Given the description of an element on the screen output the (x, y) to click on. 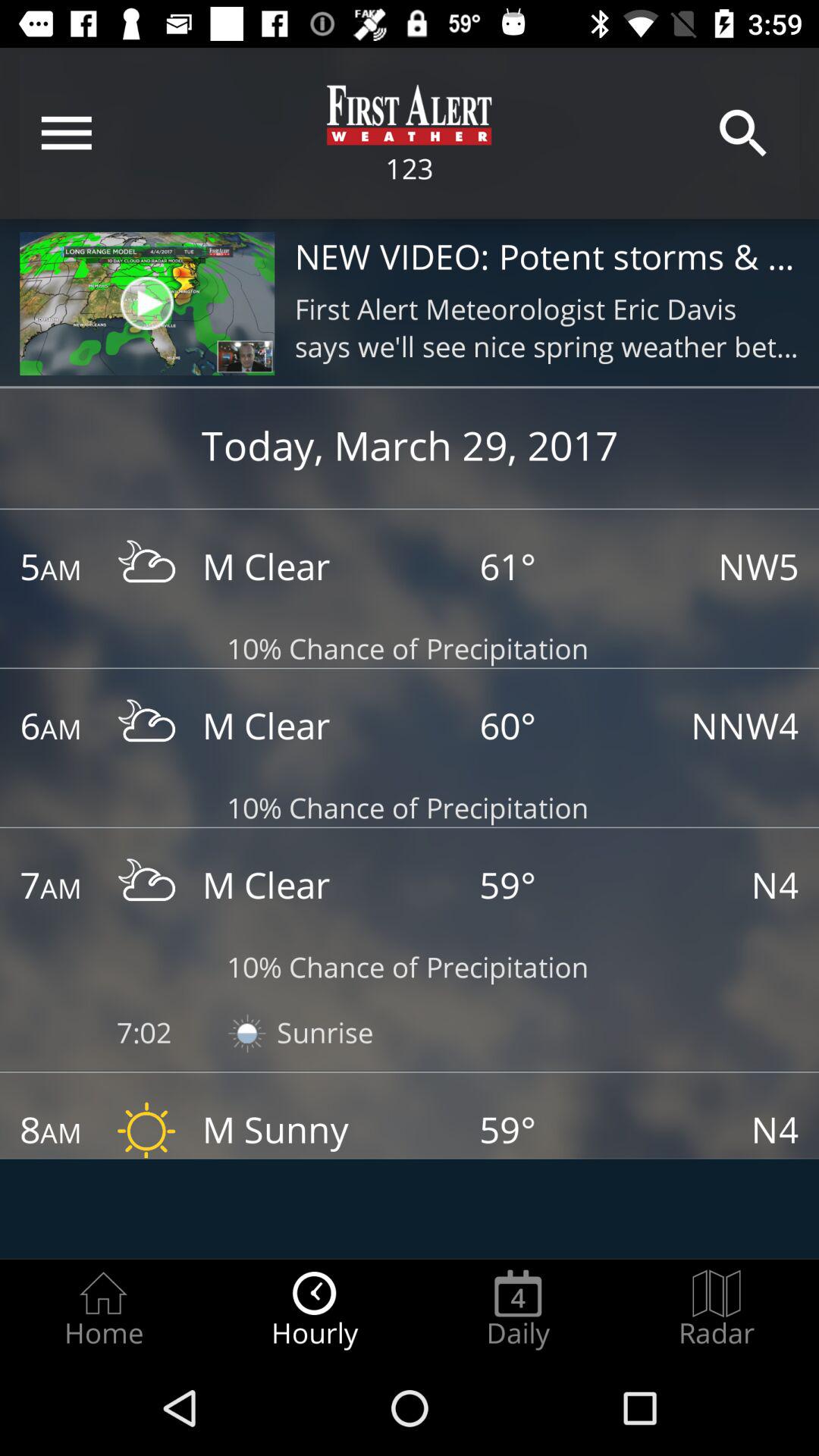
launch the item to the left of radar radio button (518, 1309)
